Given the description of an element on the screen output the (x, y) to click on. 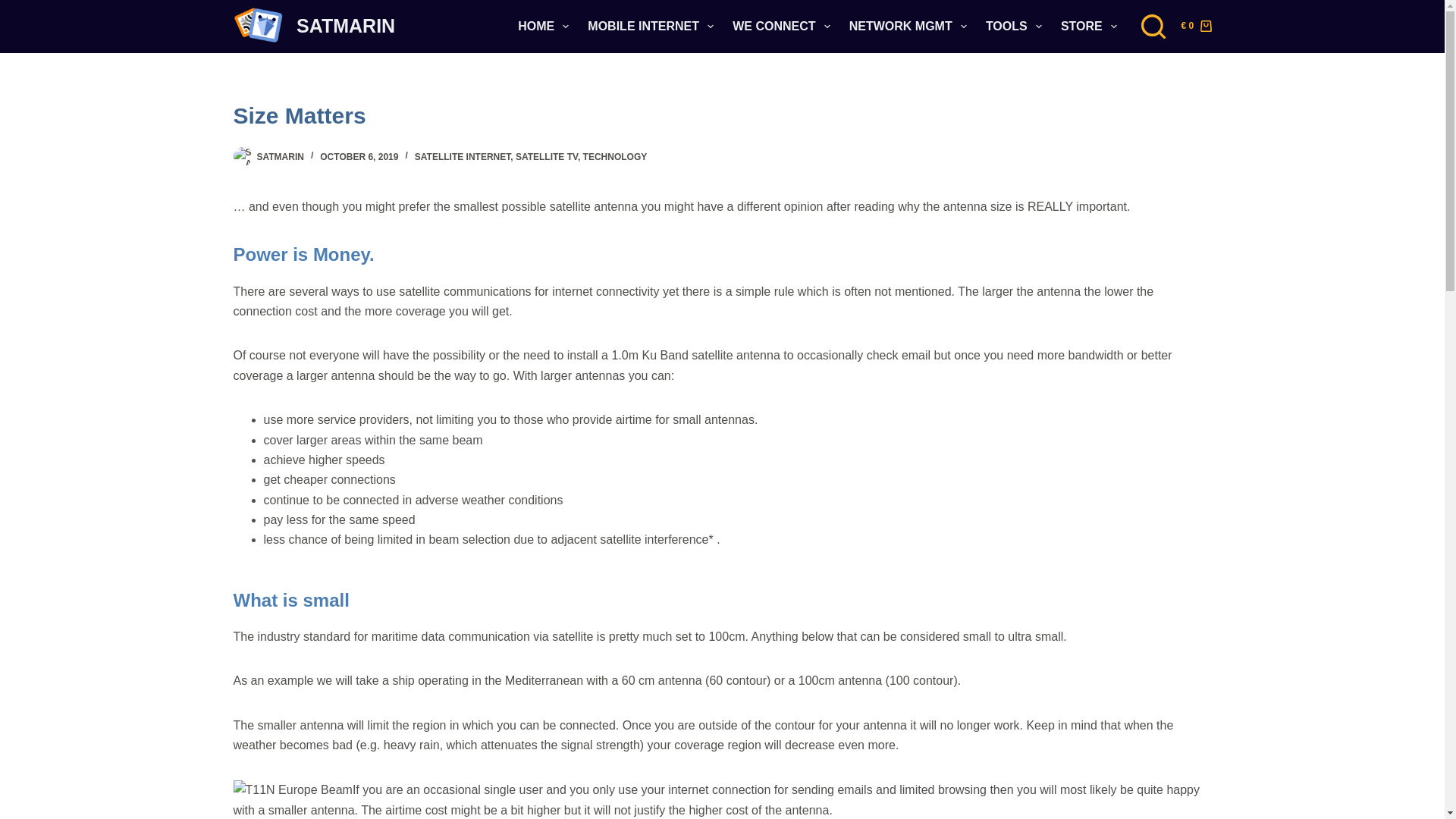
Skip to content (15, 7)
SATMARIN (345, 25)
Example beam with different sntenna size coverages (292, 790)
Size Matters (721, 115)
Posts by Satmarin (279, 156)
